Given the description of an element on the screen output the (x, y) to click on. 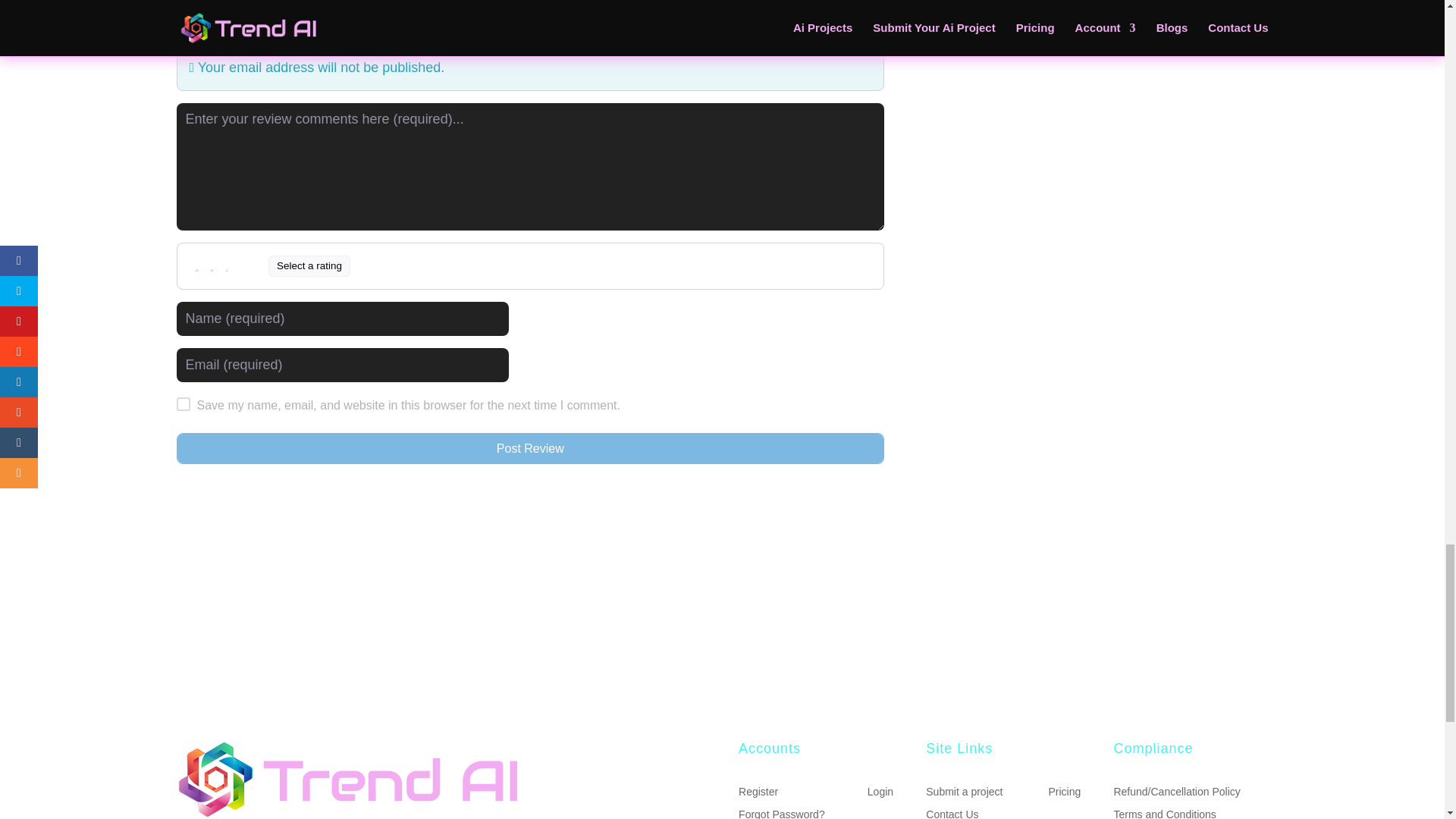
Post Review (529, 448)
Very Good (242, 265)
Excellent (257, 265)
Poor (212, 265)
Average (226, 265)
Terrible (197, 265)
Post Review (529, 448)
yes (182, 404)
